Given the description of an element on the screen output the (x, y) to click on. 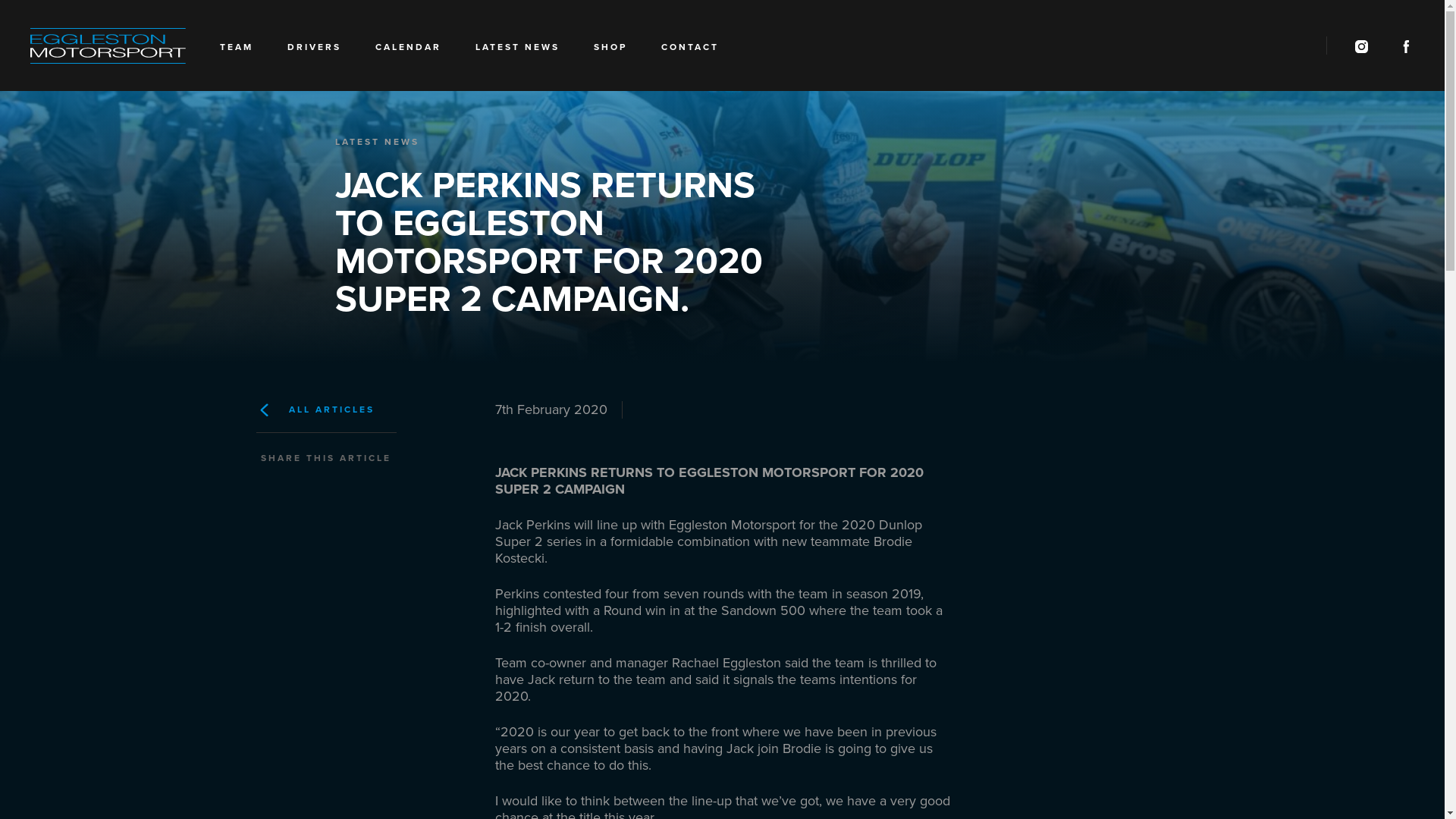
LATEST NEWS Element type: text (517, 50)
SHOP Element type: text (610, 50)
CONTACT Element type: text (689, 50)
DRIVERS Element type: text (314, 50)
ALL ARTICLES Element type: text (364, 409)
CALENDAR Element type: text (408, 50)
TEAM Element type: text (236, 50)
